Given the description of an element on the screen output the (x, y) to click on. 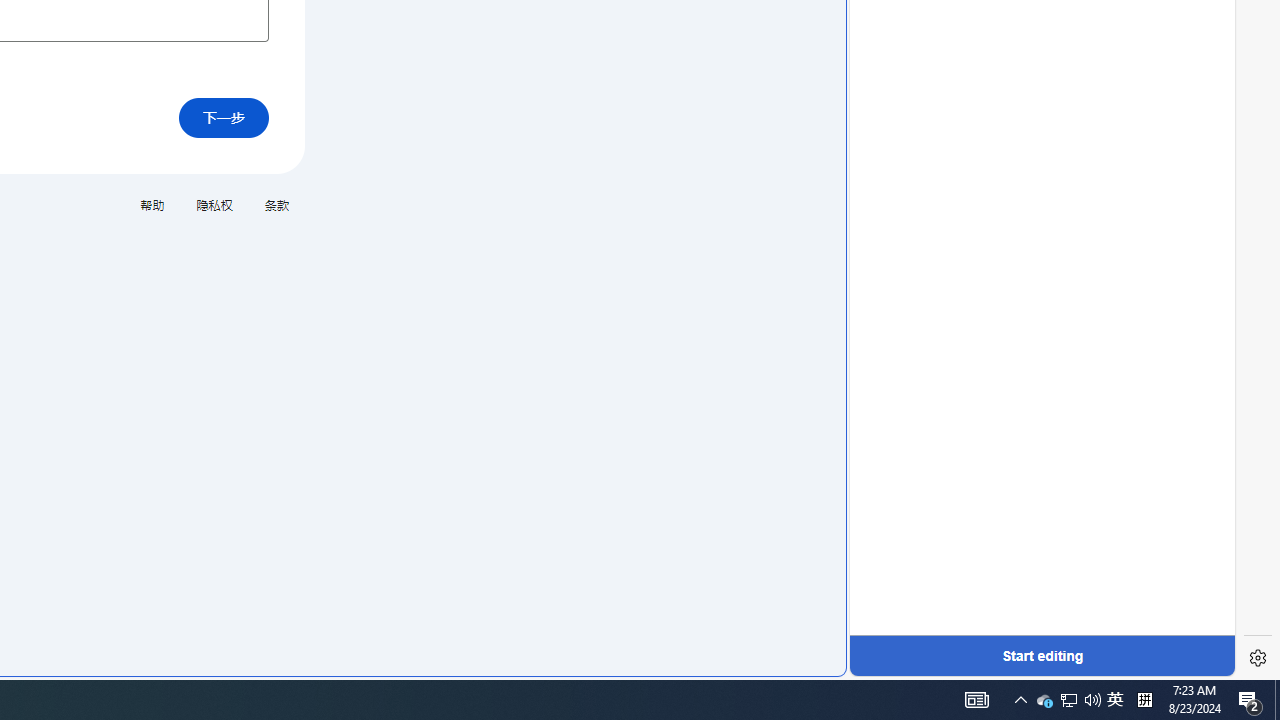
Start editing (1042, 655)
